Given the description of an element on the screen output the (x, y) to click on. 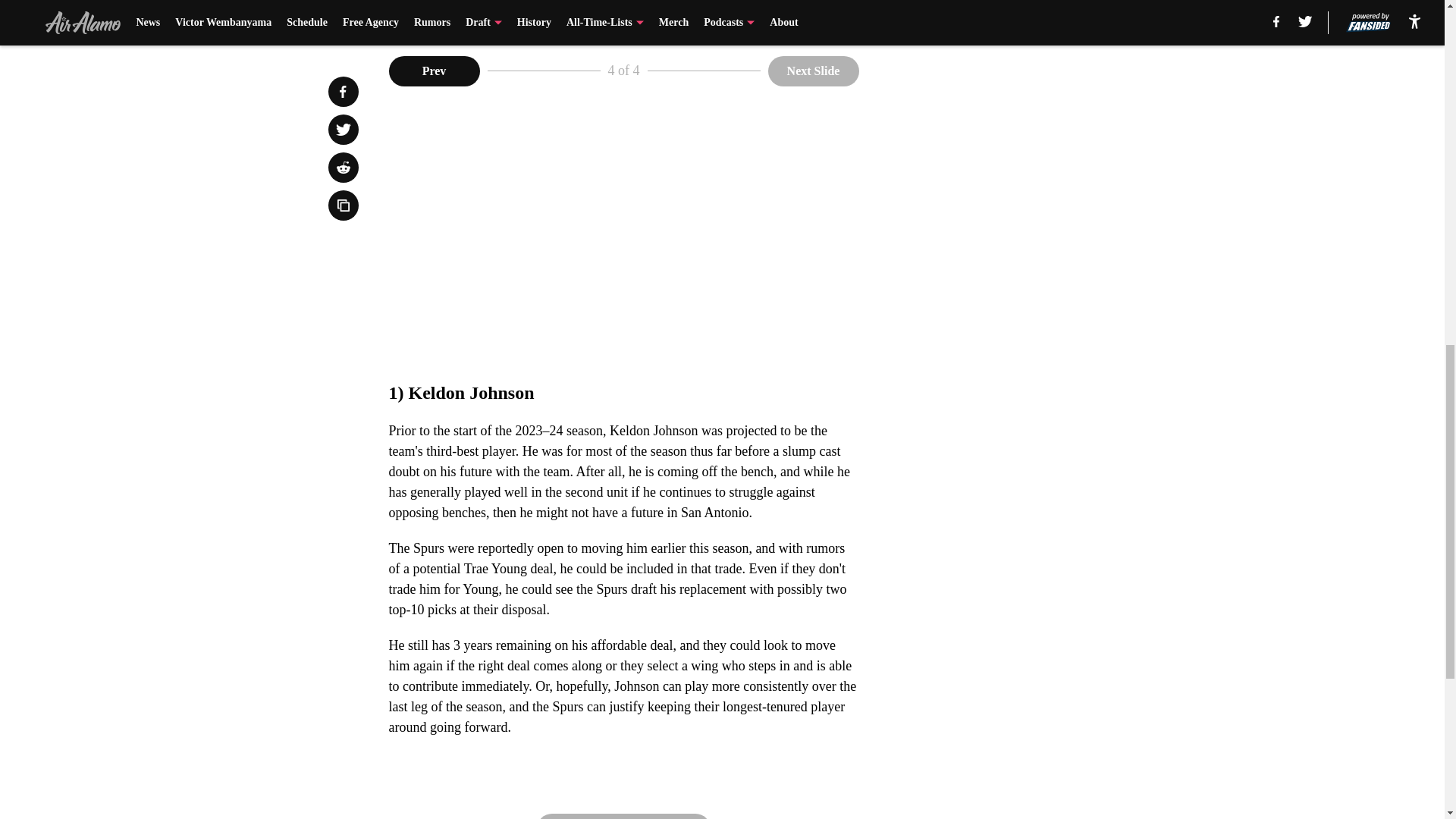
Next Slide (813, 71)
Prev (433, 71)
Next Slide (624, 816)
